Given the description of an element on the screen output the (x, y) to click on. 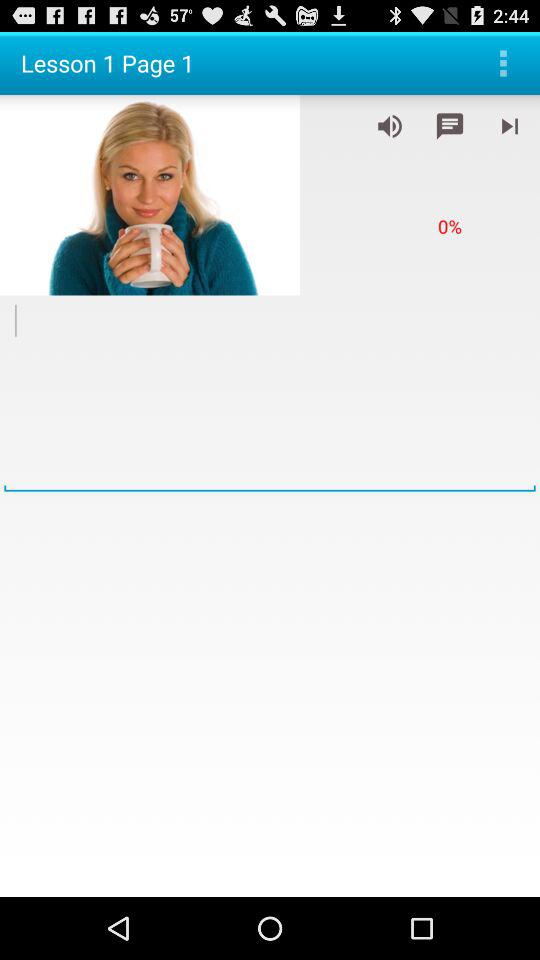
control the volume (390, 125)
